Given the description of an element on the screen output the (x, y) to click on. 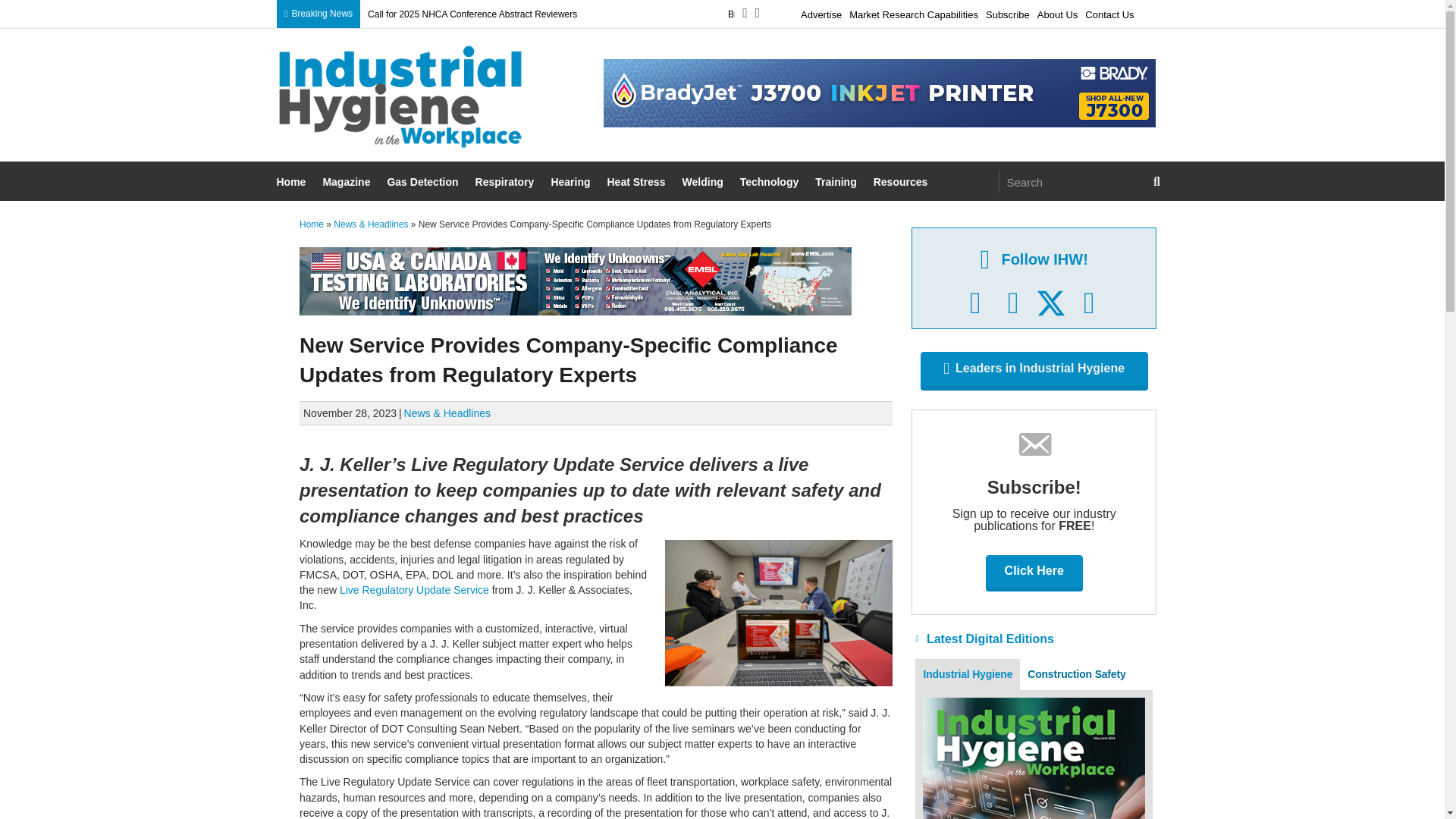
Advertise (820, 11)
Gas Detection (424, 182)
LinkedIn (1012, 303)
Subscribe (1007, 11)
Search (1071, 181)
Magazine (347, 182)
Respiratory (507, 182)
Call for 2025 NHCA Conference Abstract Reviewers (472, 14)
Welding (704, 182)
Technology (771, 182)
ihw-400 (400, 96)
Heat Stress (637, 182)
Hearing (572, 182)
Facebook (975, 303)
Market Research Capabilities (913, 11)
